Given the description of an element on the screen output the (x, y) to click on. 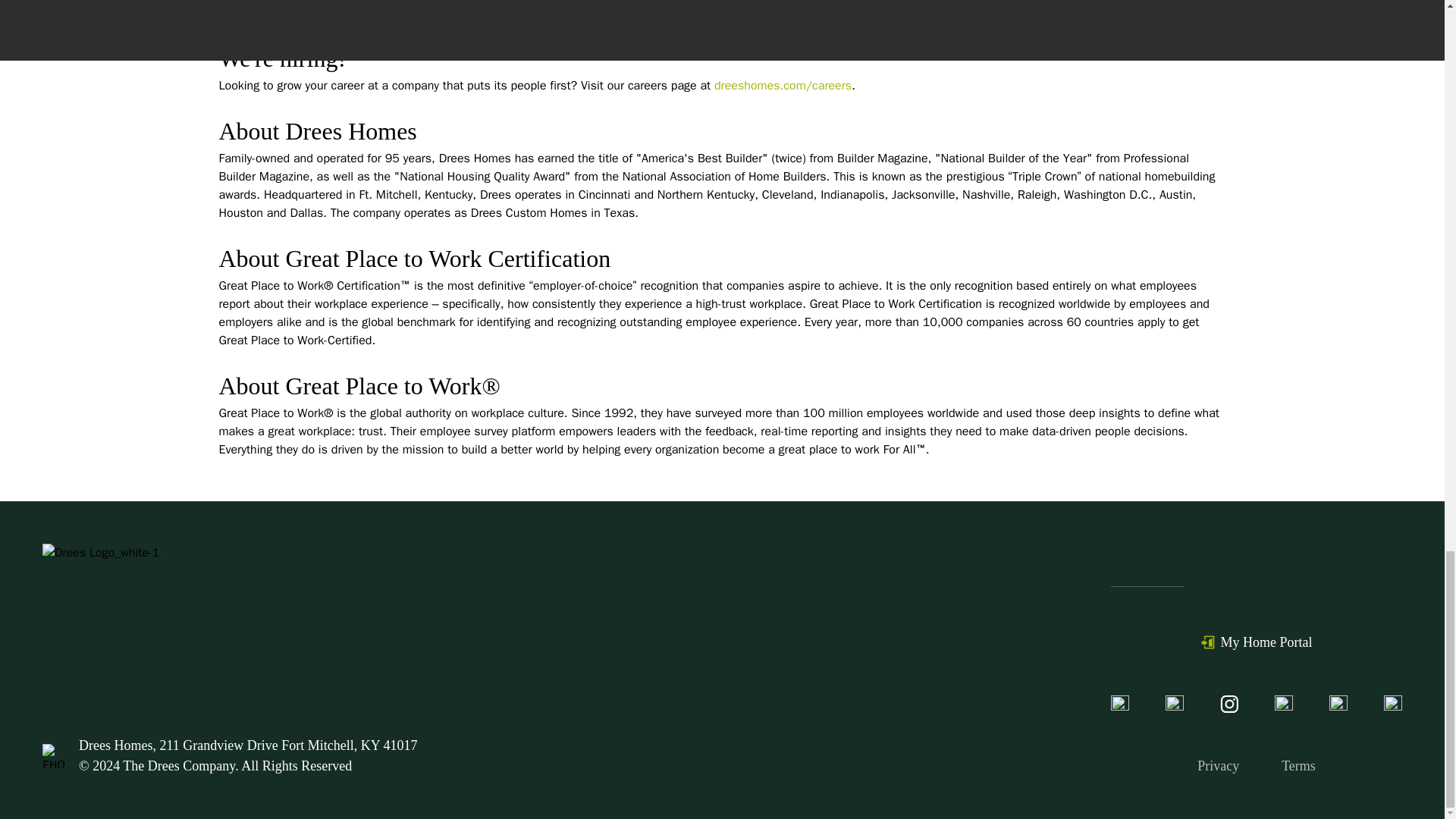
Terms (1298, 765)
Privacy (1217, 765)
My Home Portal (1257, 642)
